Given the description of an element on the screen output the (x, y) to click on. 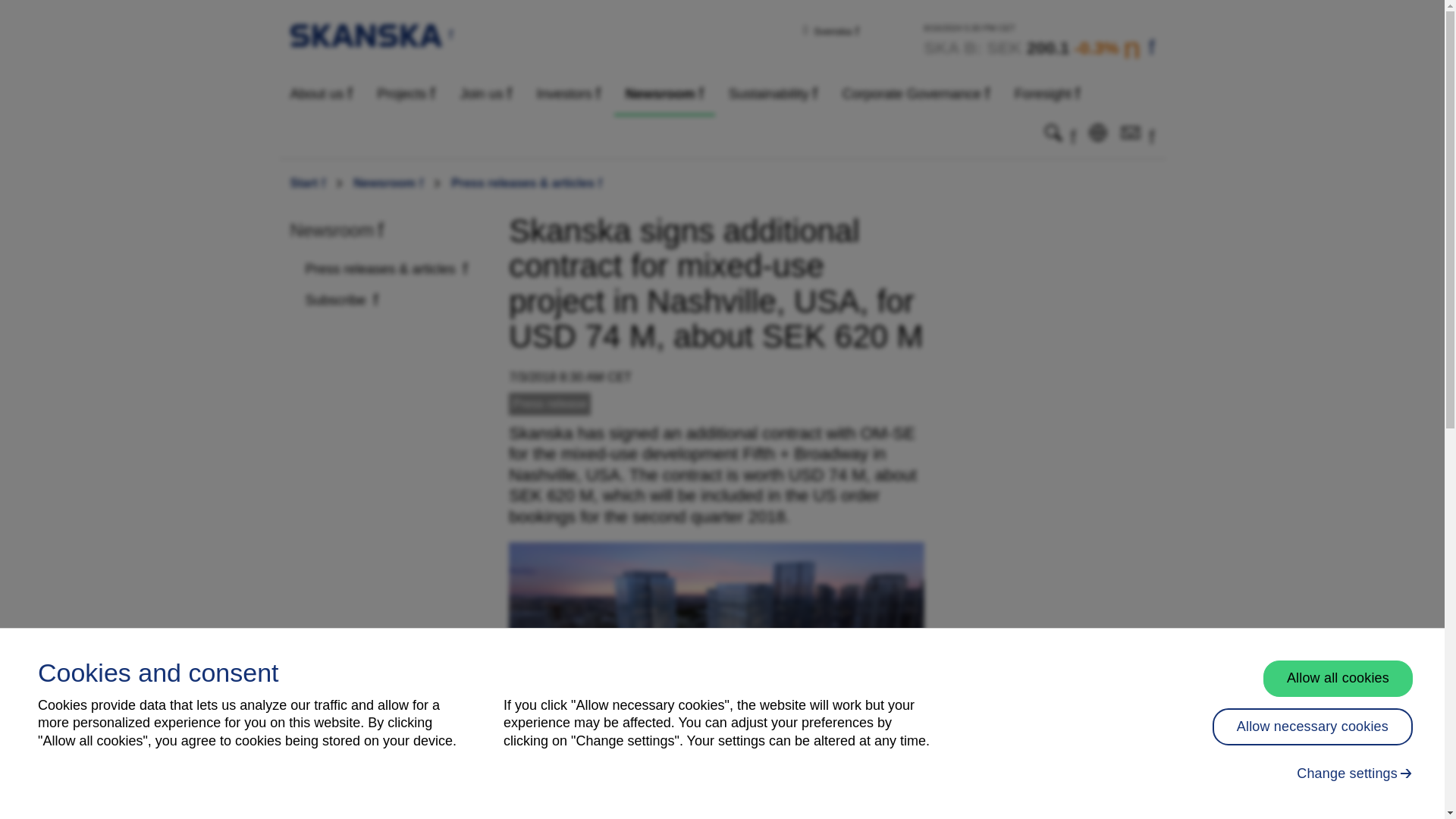
Join us (485, 93)
Svenska (836, 30)
About us (321, 93)
Compare (1038, 40)
Skanska (370, 33)
Projects (406, 93)
